Given the description of an element on the screen output the (x, y) to click on. 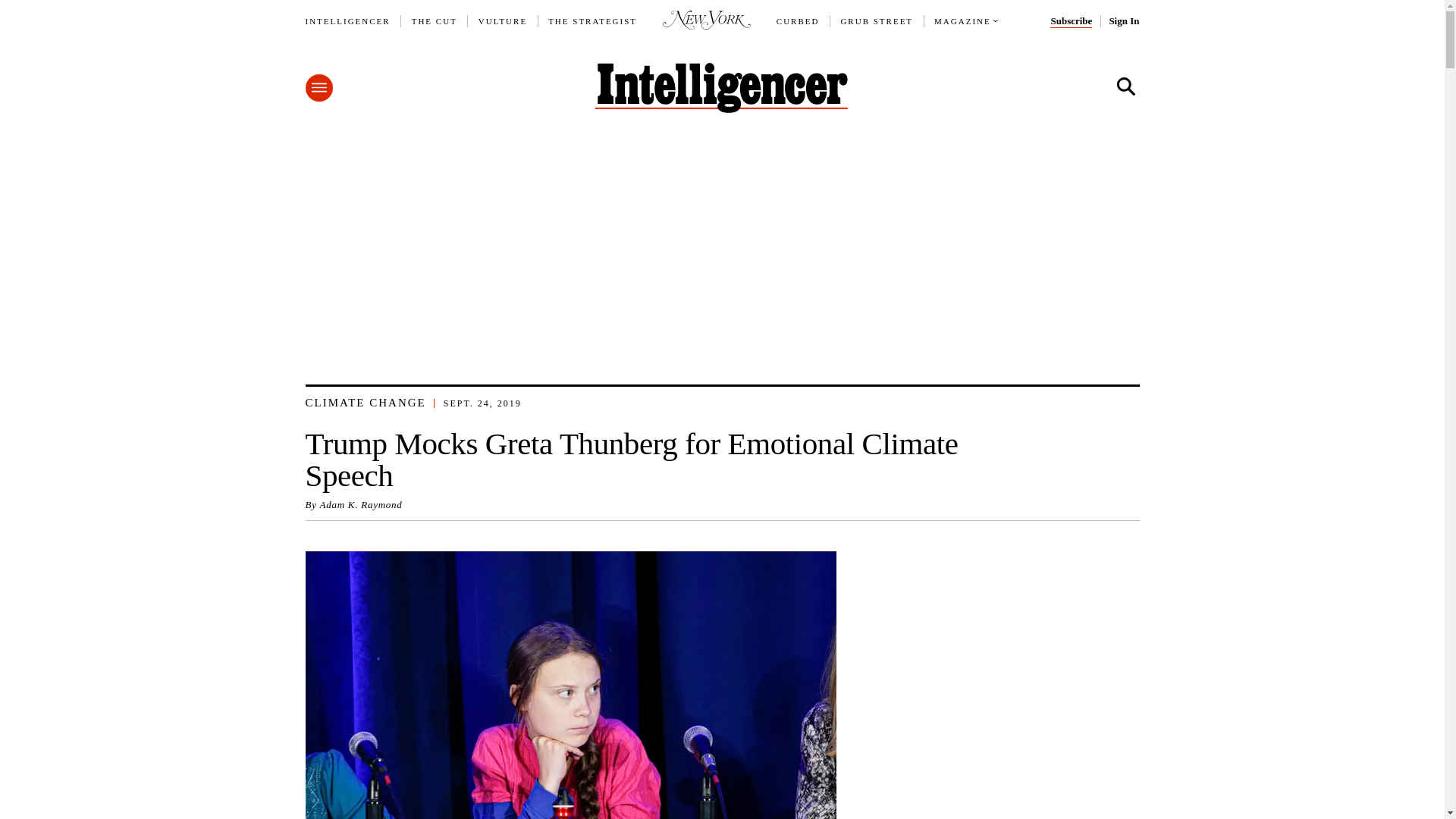
MAGAZINE (962, 21)
GRUB STREET (876, 21)
Sign In (1123, 21)
Search (1124, 86)
Menu (317, 87)
INTELLIGENCER (347, 21)
THE CUT (434, 21)
VULTURE (503, 21)
Search (1124, 86)
CURBED (797, 21)
THE STRATEGIST (592, 21)
Subscribe (1070, 21)
